Given the description of an element on the screen output the (x, y) to click on. 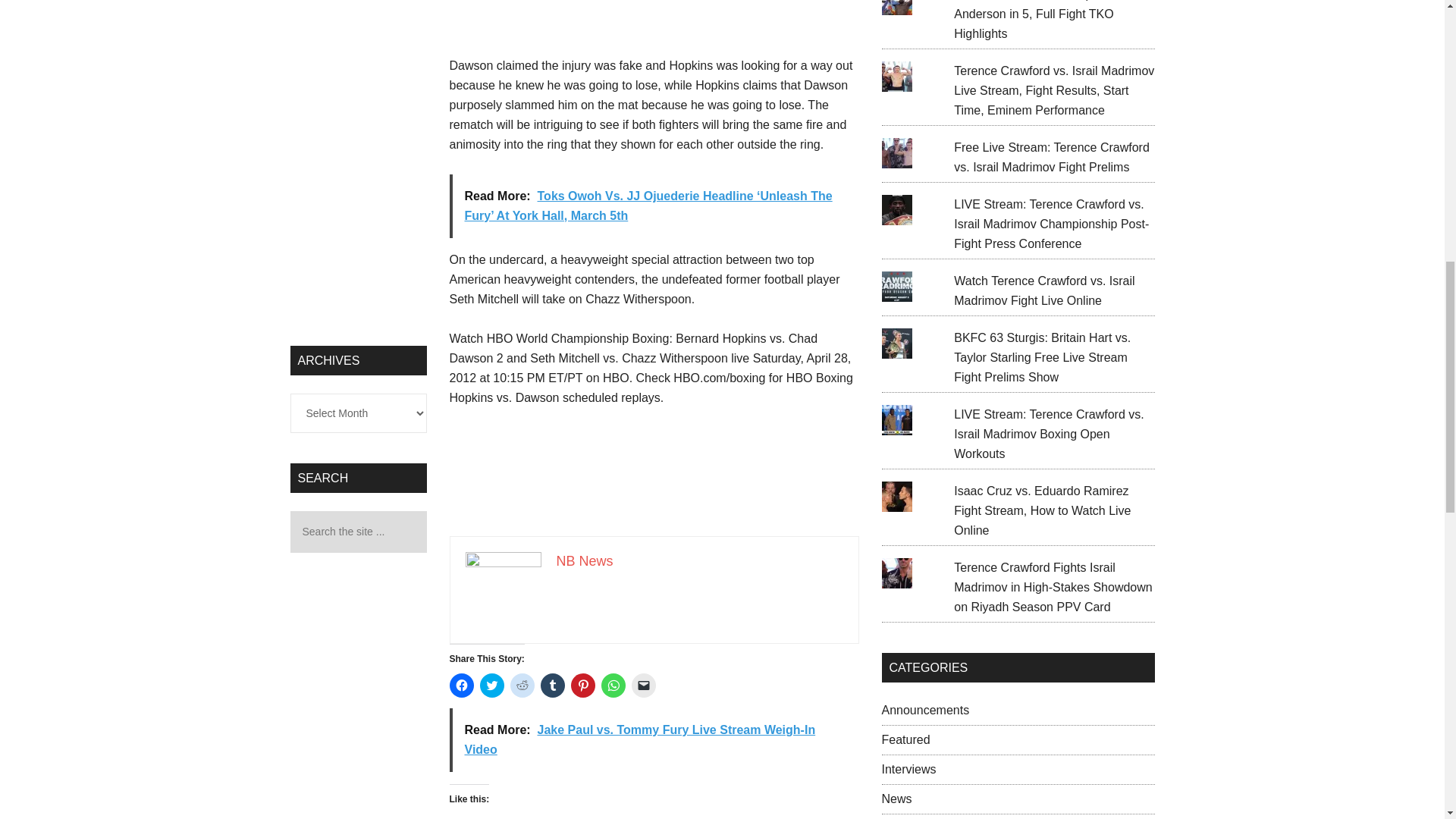
Click to share on Facebook (460, 685)
Click to email a link to a friend (642, 685)
Click to share on Twitter (491, 685)
Click to share on Reddit (521, 685)
Click to share on Pinterest (582, 685)
Click to share on WhatsApp (611, 685)
Click to share on Tumblr (552, 685)
